Given the description of an element on the screen output the (x, y) to click on. 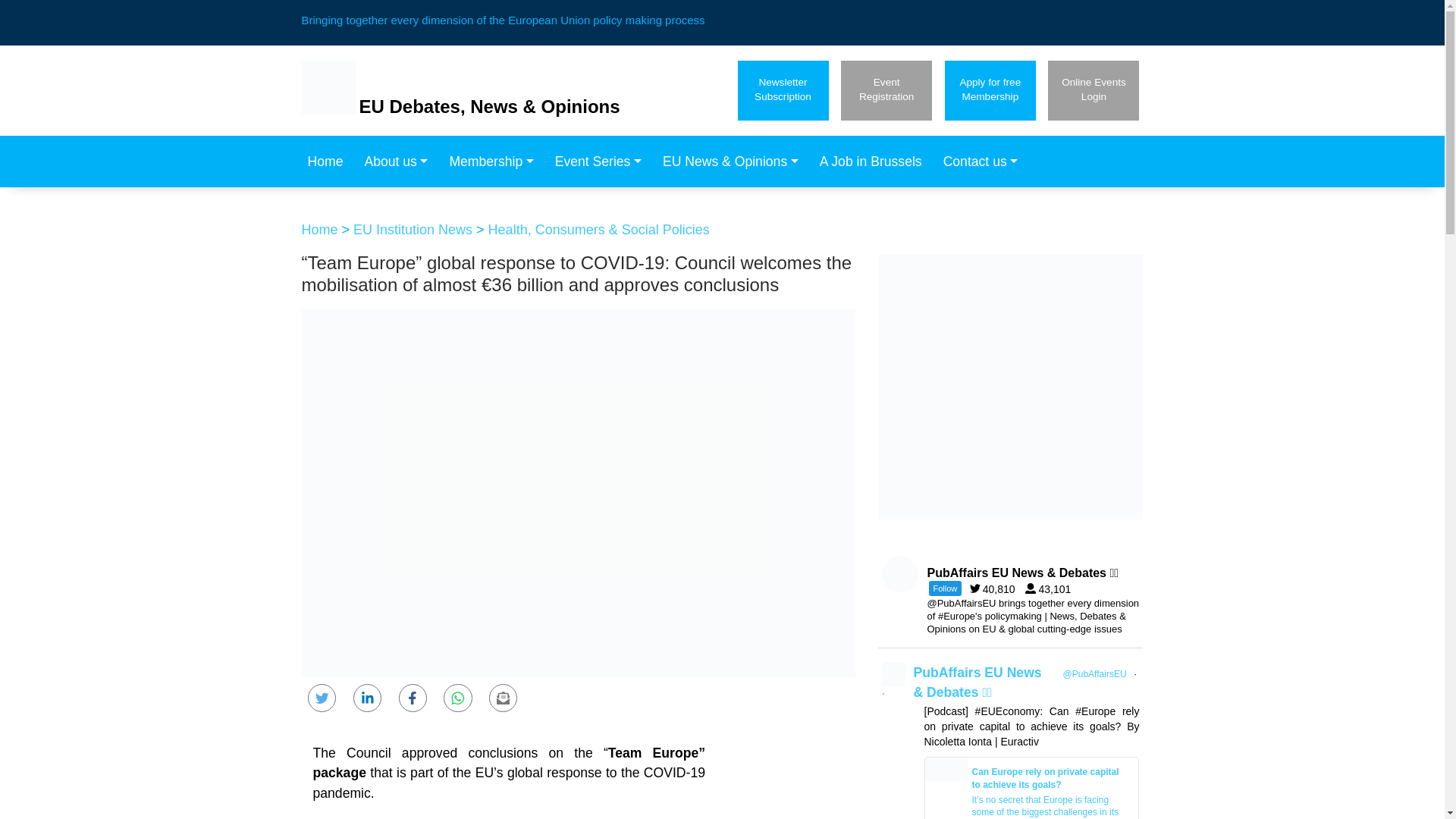
Home (329, 161)
43,101 Followers (886, 90)
40,810 Tweets (1051, 589)
Event Series (996, 589)
Membership (1093, 90)
About us (602, 161)
